Given the description of an element on the screen output the (x, y) to click on. 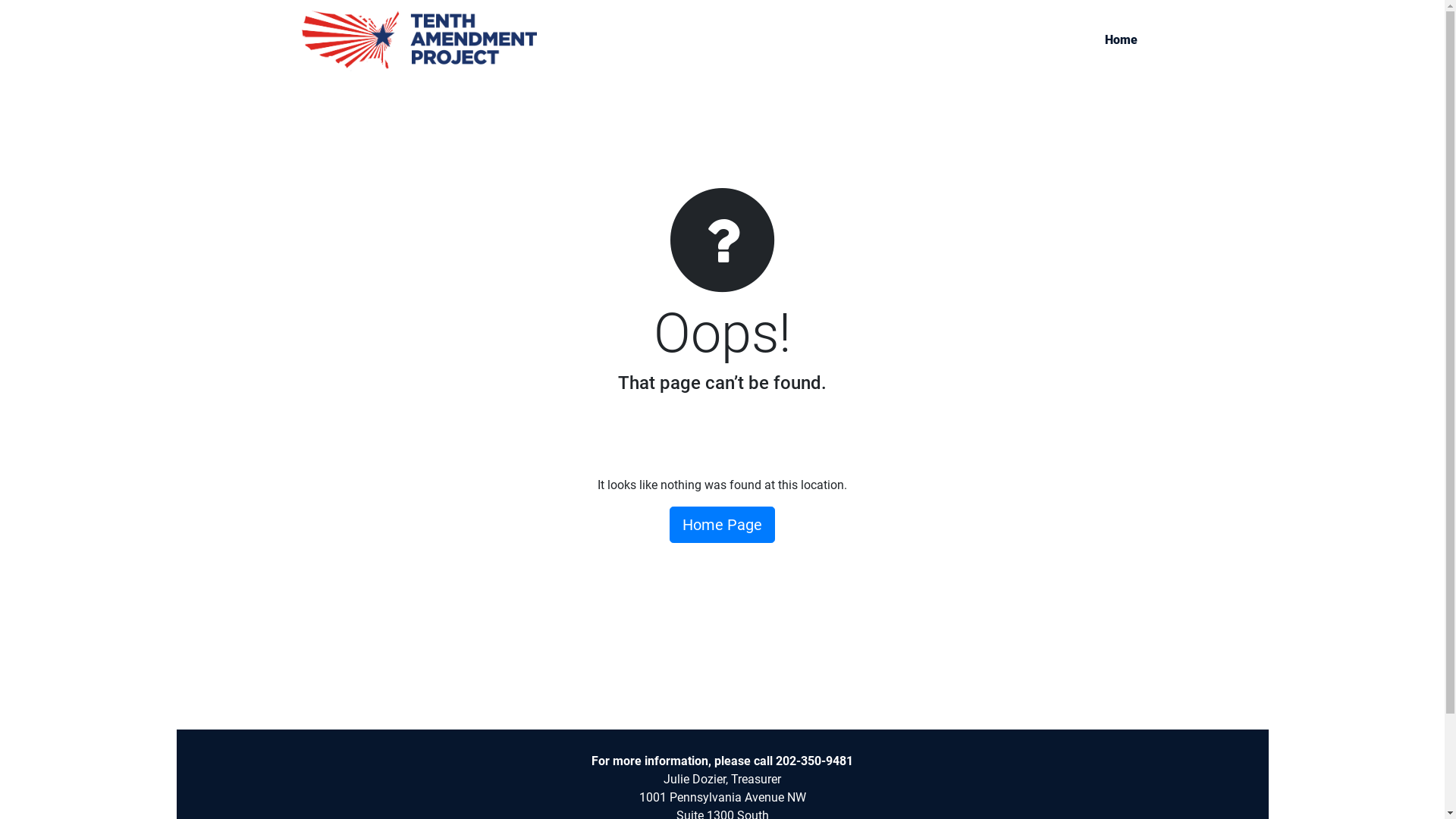
Home Page Element type: text (722, 524)
Tenth Amendment Project Element type: hover (418, 40)
Home Element type: text (1120, 40)
